Given the description of an element on the screen output the (x, y) to click on. 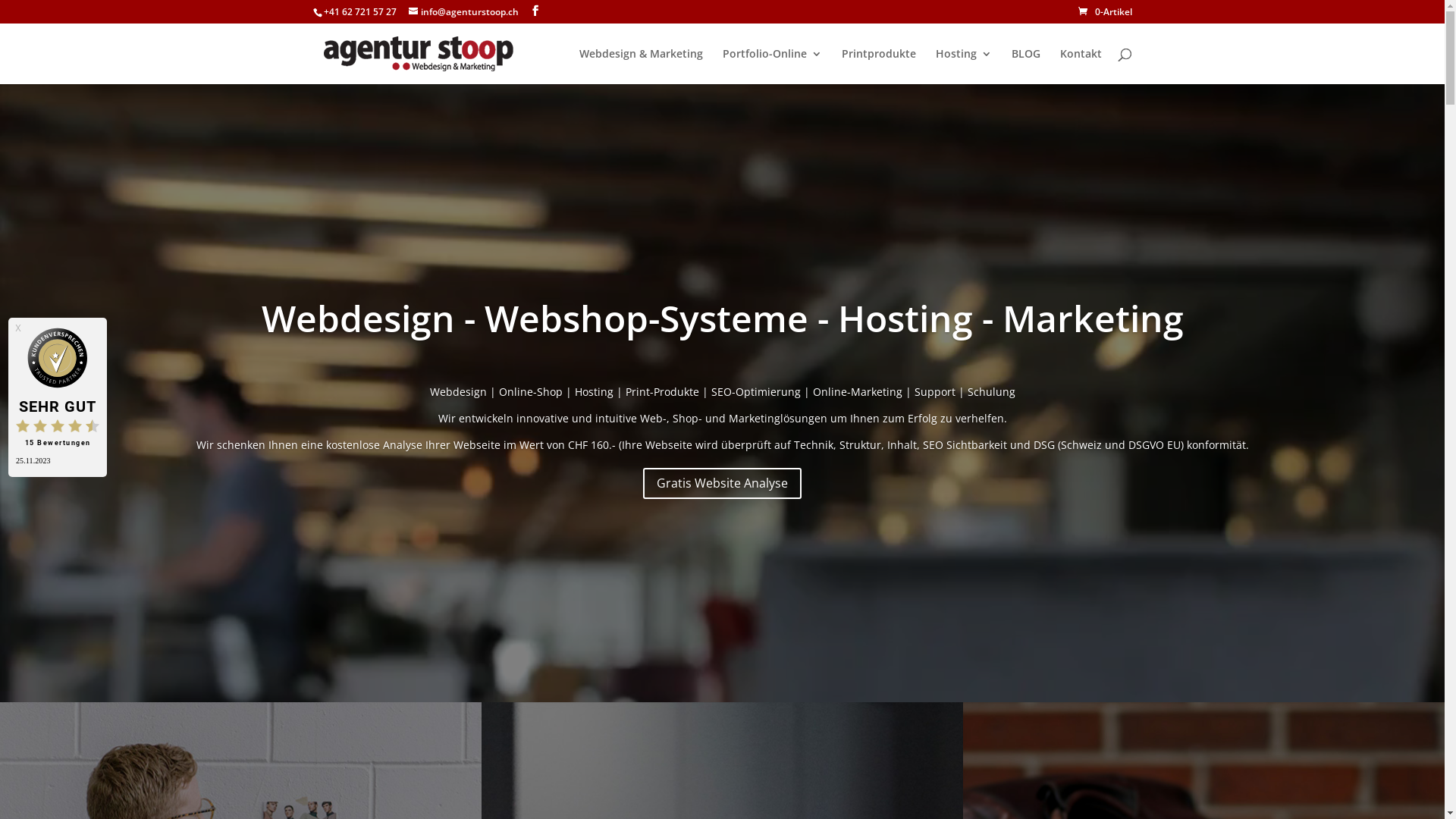
Portfolio-Online Element type: text (771, 66)
Webdesign - Webshop-Systeme - Hosting - Marketing Element type: text (721, 317)
Printprodukte Element type: text (878, 66)
Webdesign & Marketing Element type: text (640, 66)
0-Artikel Element type: text (1105, 11)
info@agenturstoop.ch Element type: text (462, 11)
Webdesign Element type: text (457, 391)
BLOG Element type: text (1025, 66)
Hosting Element type: text (963, 66)
Gratis Website Analyse Element type: text (722, 482)
Hosting Element type: text (593, 391)
Kontakt Element type: text (1080, 66)
